Given the description of an element on the screen output the (x, y) to click on. 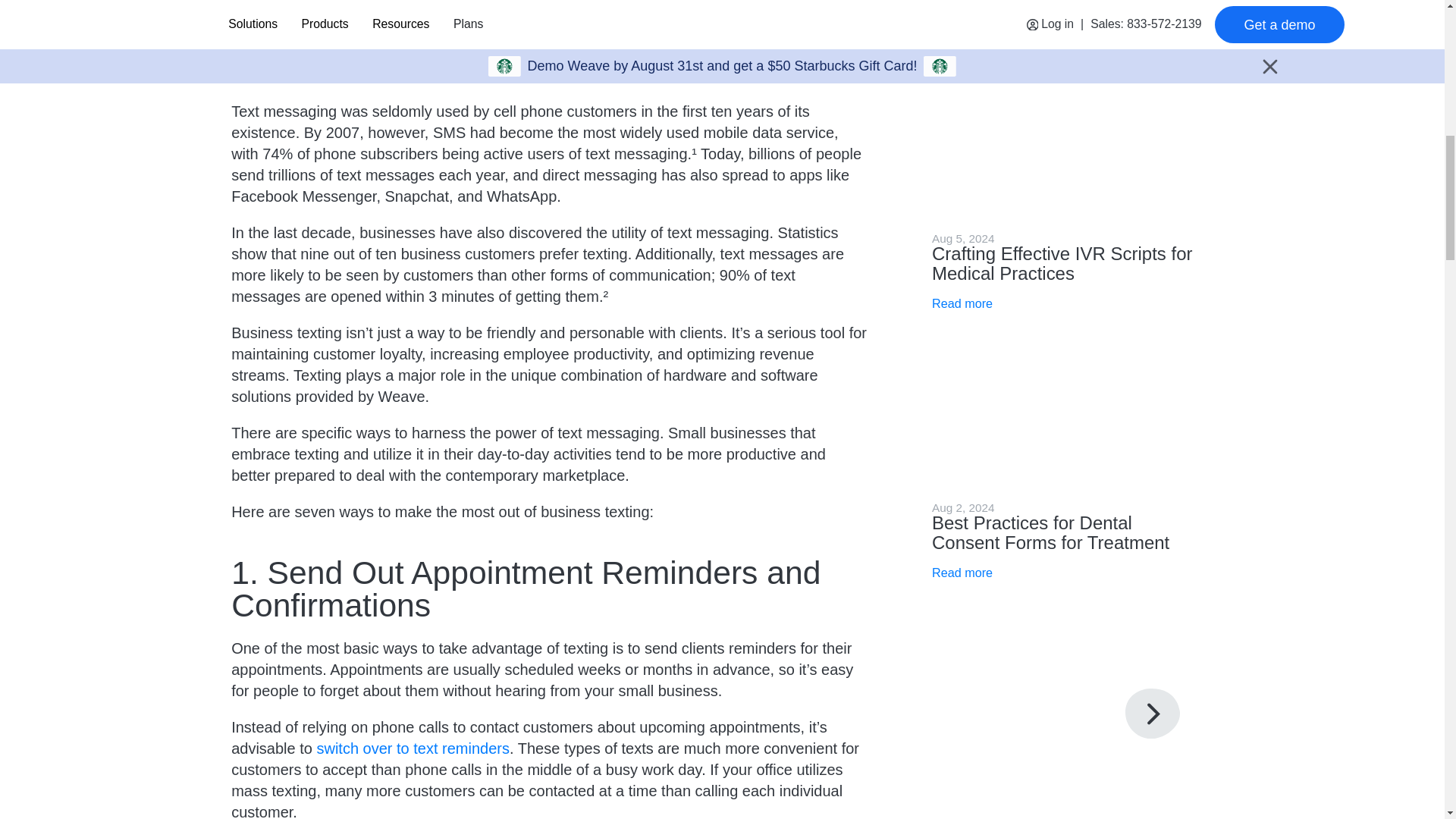
Crafting Effective IVR Scripts for Medical Practices (1061, 263)
Best Practices for Dental Consent Forms for Treatment (1050, 532)
Read more (961, 572)
Read more (961, 34)
switch over to text reminders (412, 748)
Read more (961, 303)
